Given the description of an element on the screen output the (x, y) to click on. 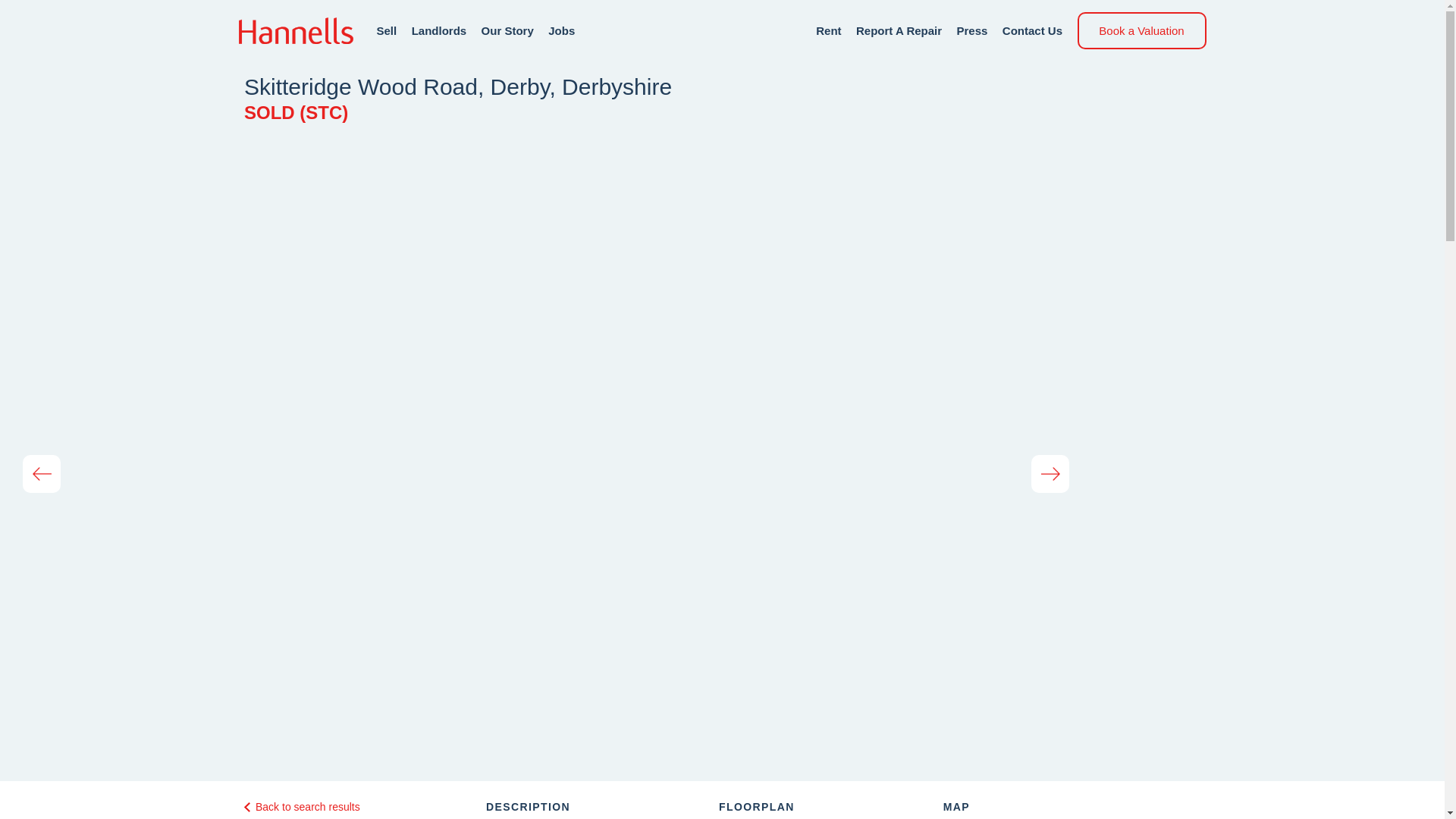
Previous (42, 474)
Press (972, 30)
FLOORPLAN (756, 806)
Jobs (561, 30)
Book a Valuation (1141, 30)
Report A Repair (899, 30)
Next (1049, 474)
Rent (828, 30)
Our Story (507, 30)
MAP (956, 806)
Hannells (295, 30)
Sell (385, 30)
DESCRIPTION (528, 806)
Contact Us (1032, 30)
Back to search results (301, 807)
